Given the description of an element on the screen output the (x, y) to click on. 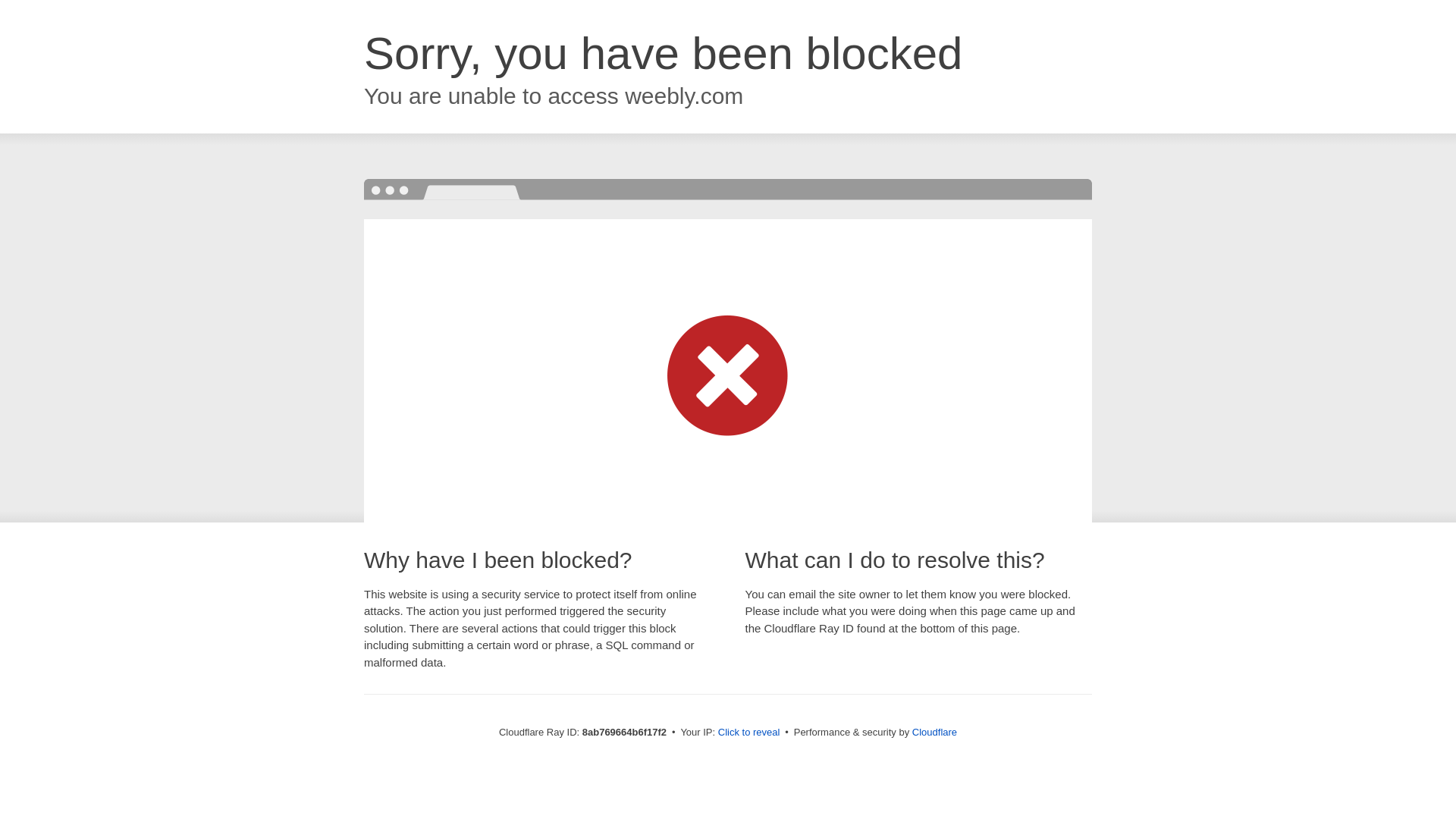
Click to reveal (748, 732)
Cloudflare (934, 731)
